Given the description of an element on the screen output the (x, y) to click on. 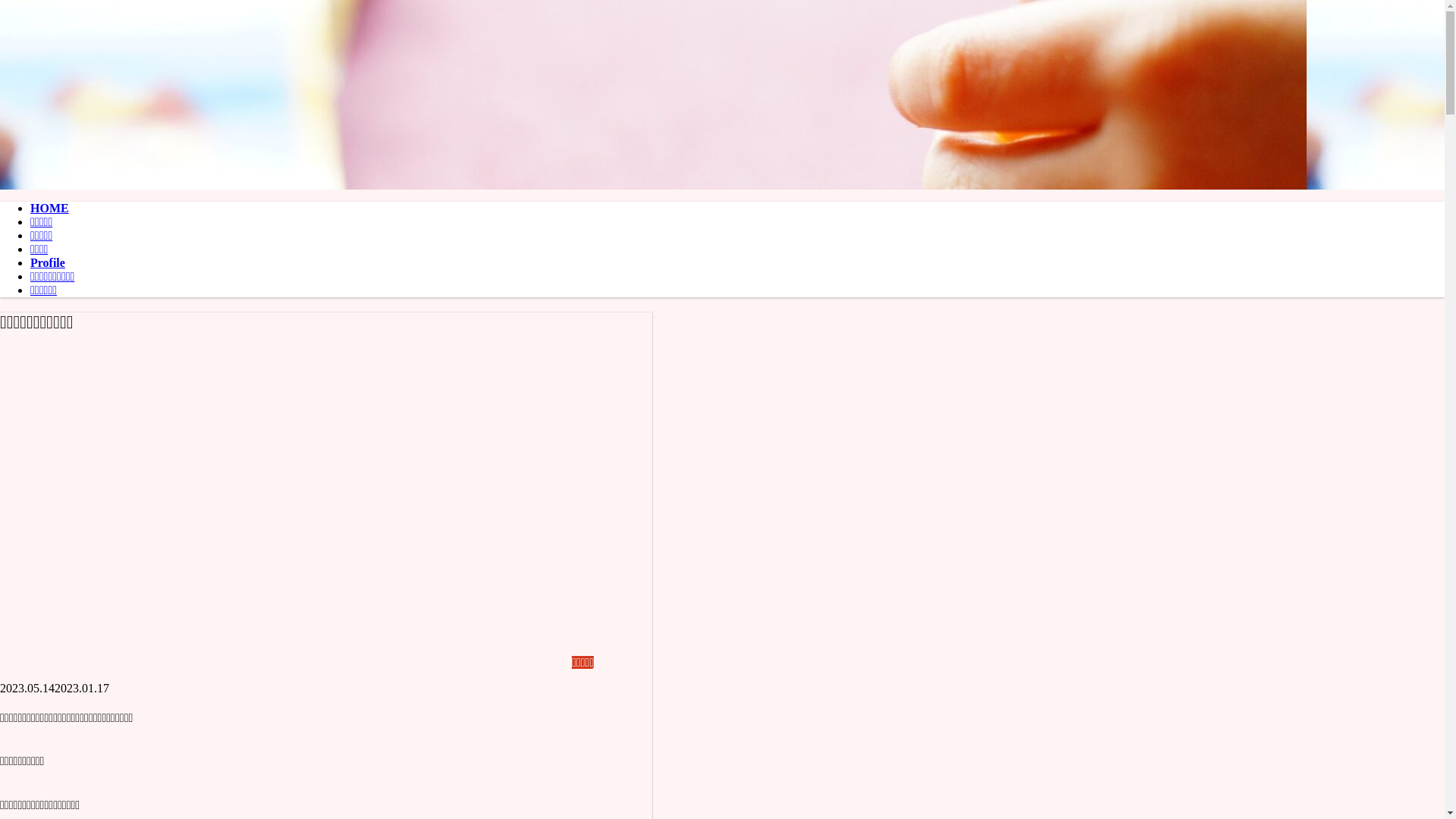
HOME Element type: text (737, 208)
Profile Element type: text (737, 262)
